Given the description of an element on the screen output the (x, y) to click on. 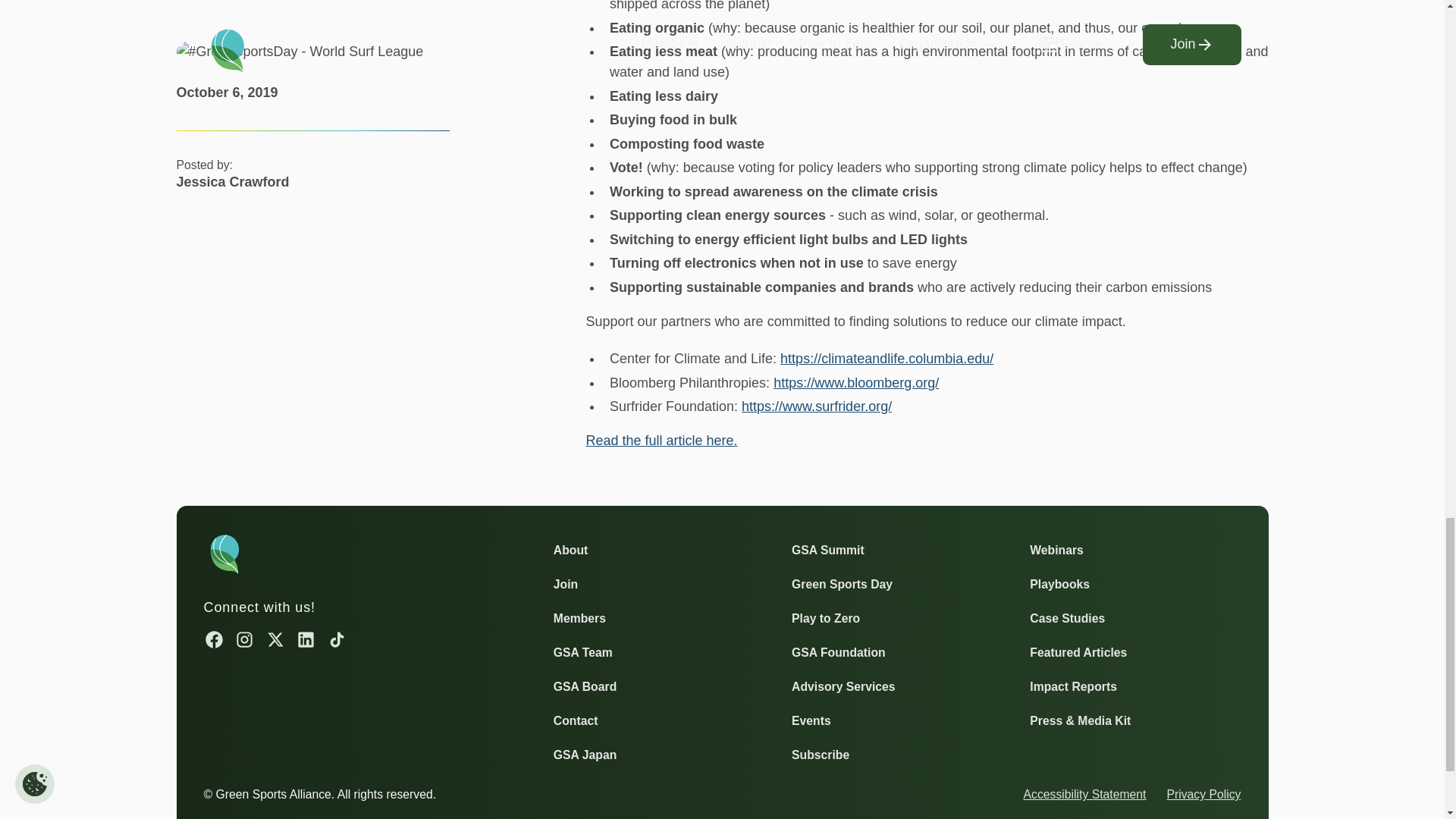
Read the full article here. (660, 440)
